Given the description of an element on the screen output the (x, y) to click on. 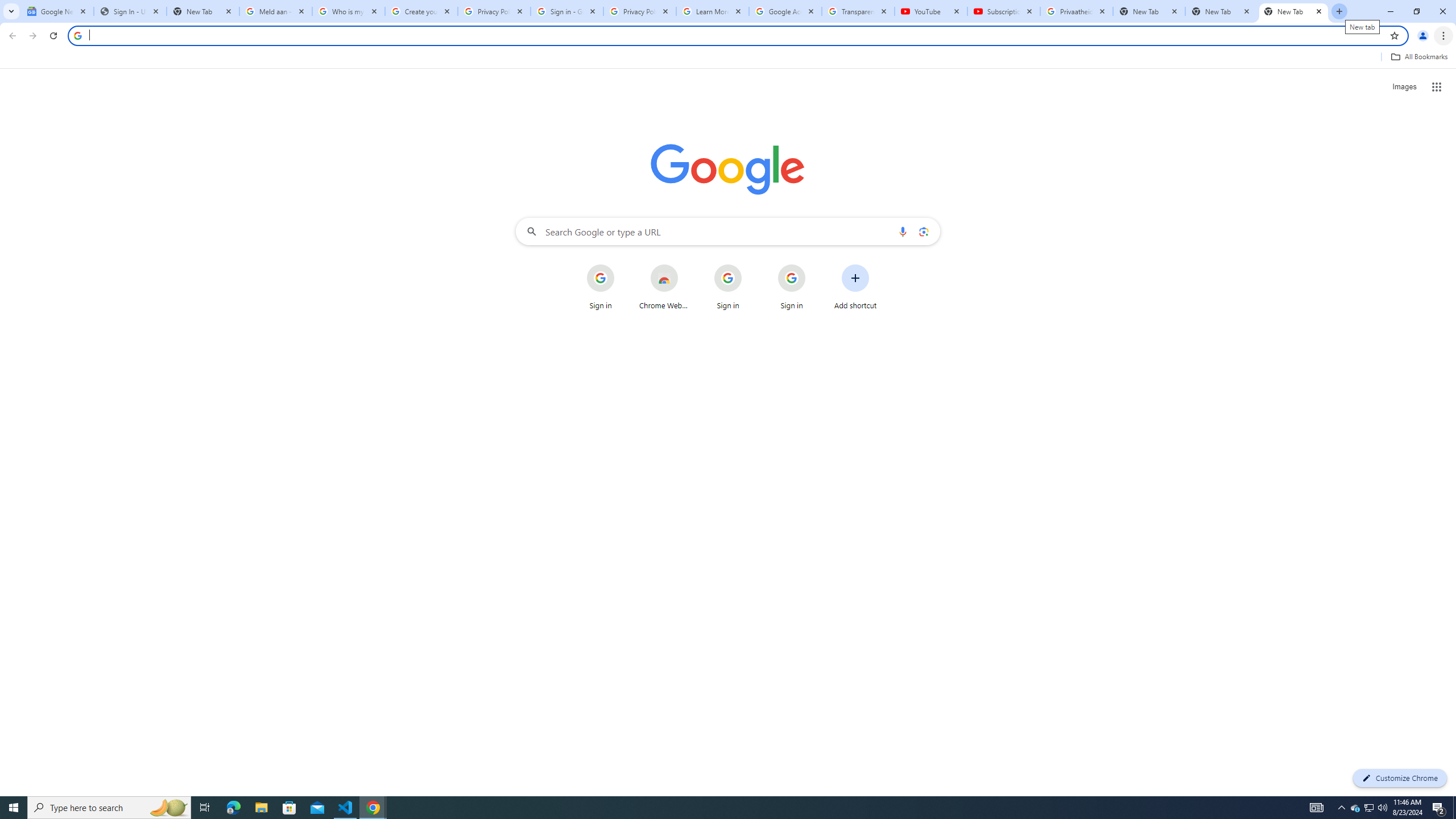
More actions for Sign in shortcut (814, 265)
Search Google or type a URL (727, 230)
Customize Chrome (1399, 778)
Chrome Web Store (663, 287)
Google News (57, 11)
Sign in - Google Accounts (566, 11)
Sign In - USA TODAY (129, 11)
Google Account (785, 11)
